Given the description of an element on the screen output the (x, y) to click on. 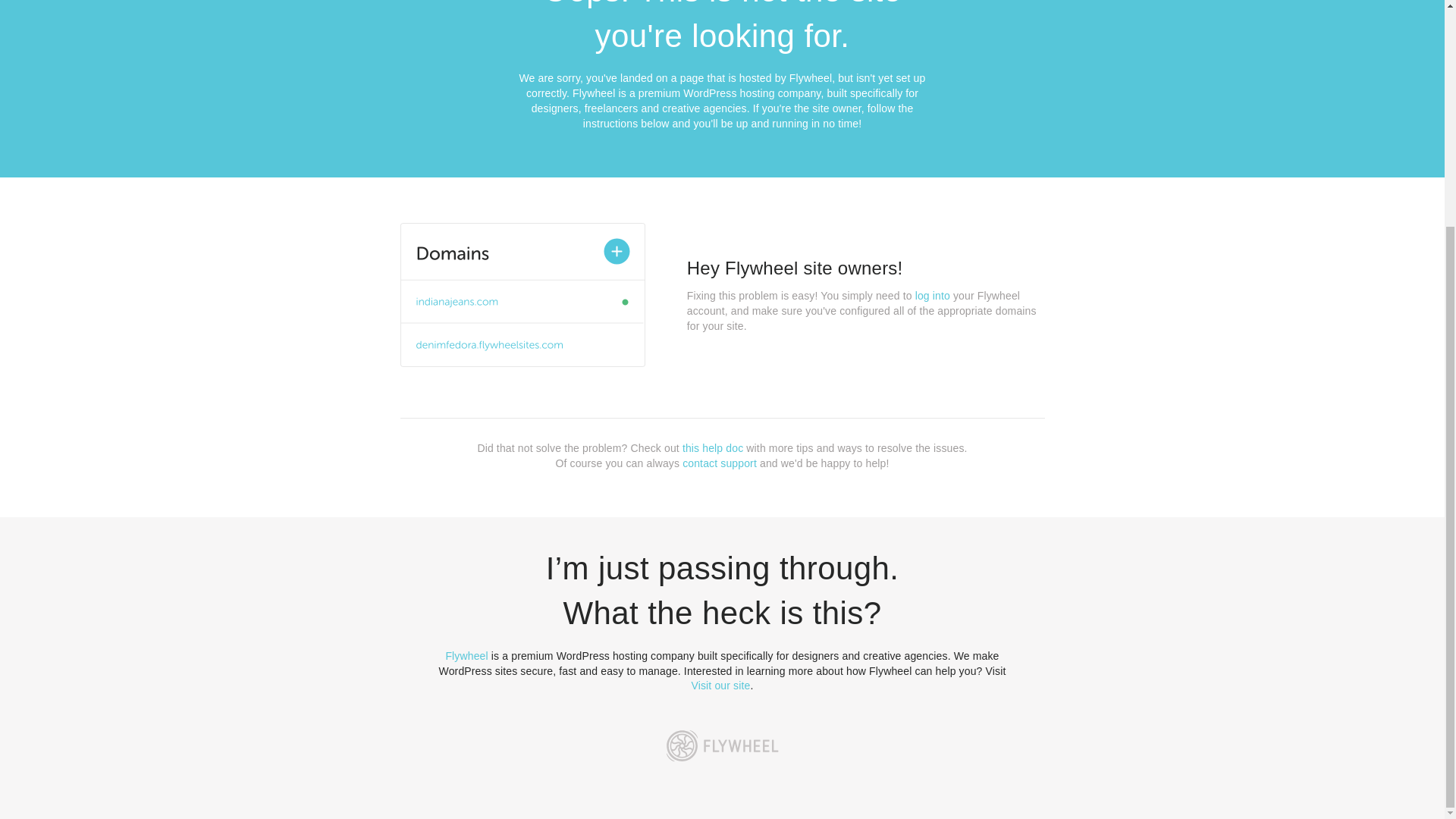
contact support (719, 463)
this help doc (712, 448)
Flywheel (466, 655)
log into (932, 295)
Visit our site (721, 685)
